Given the description of an element on the screen output the (x, y) to click on. 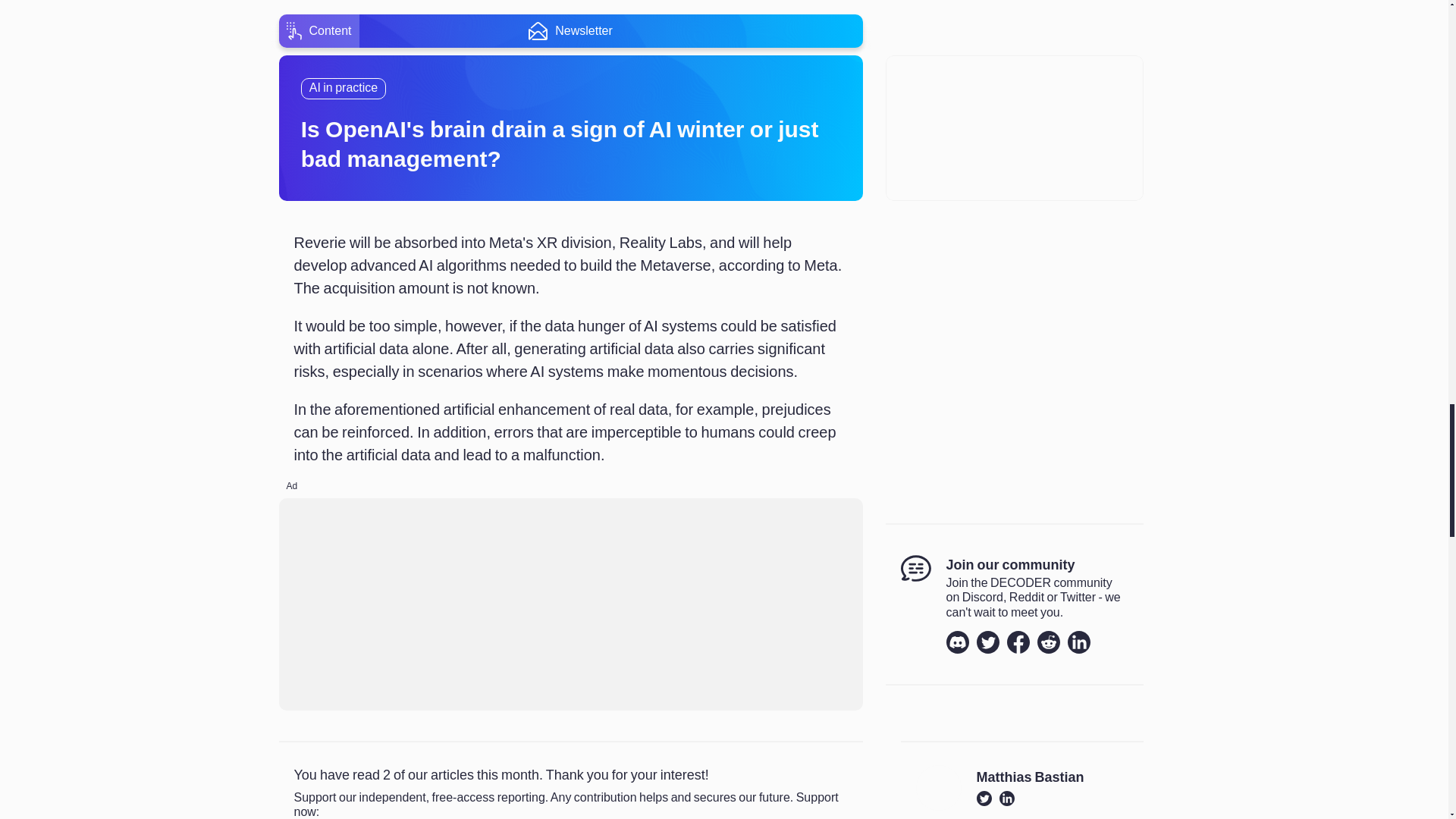
AI in practice (343, 88)
LinkedIn (1078, 641)
Matthias Bastian (1030, 777)
Reddit (1047, 641)
Facebook (1018, 641)
Discord (957, 641)
Twitter (987, 641)
